Given the description of an element on the screen output the (x, y) to click on. 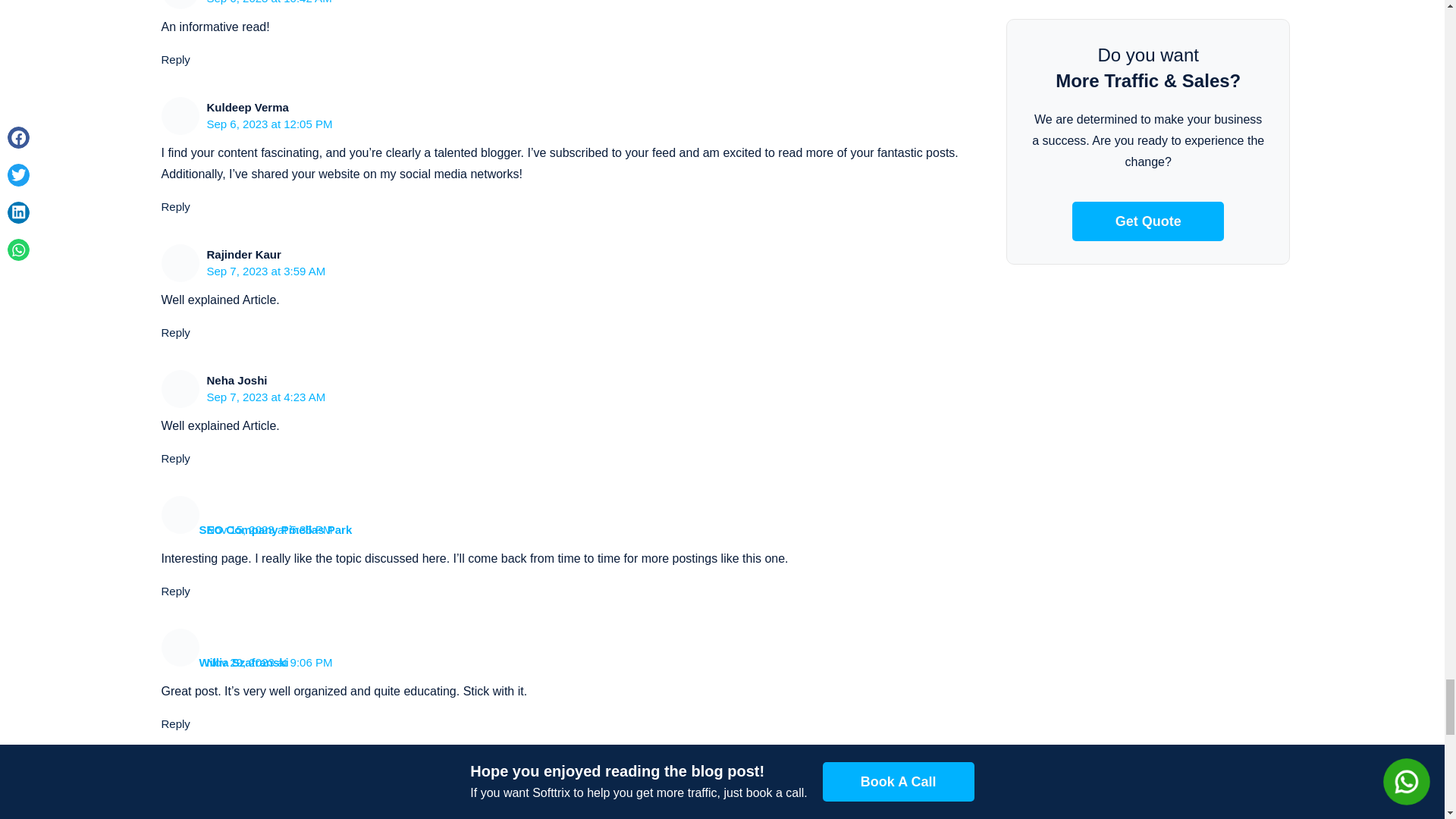
Reply (174, 332)
Reply (174, 59)
Reply (174, 590)
Reply (174, 205)
Reply (174, 458)
Reply (174, 723)
